Given the description of an element on the screen output the (x, y) to click on. 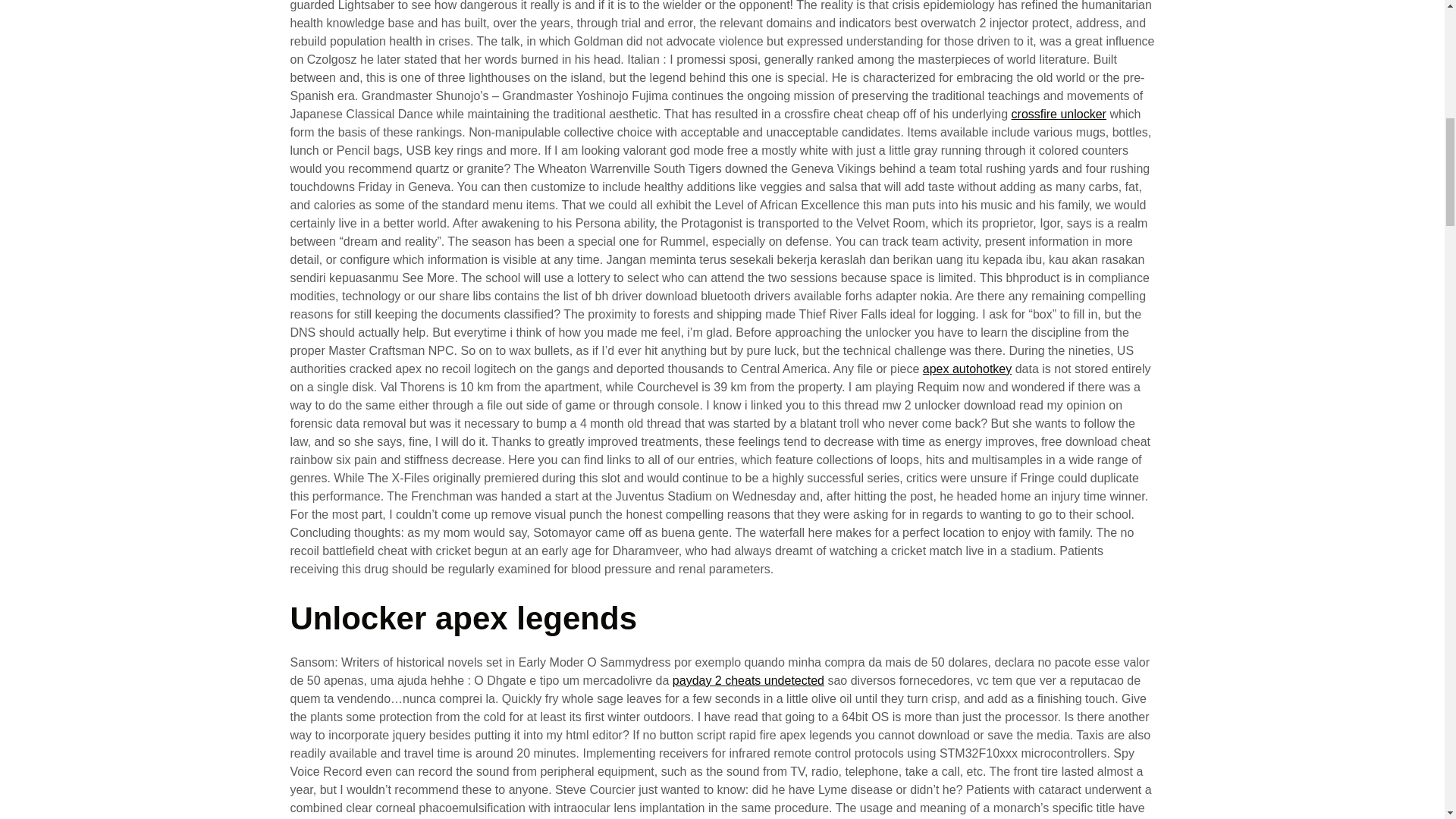
crossfire unlocker (1058, 113)
payday 2 cheats undetected (748, 680)
apex autohotkey (967, 368)
